Given the description of an element on the screen output the (x, y) to click on. 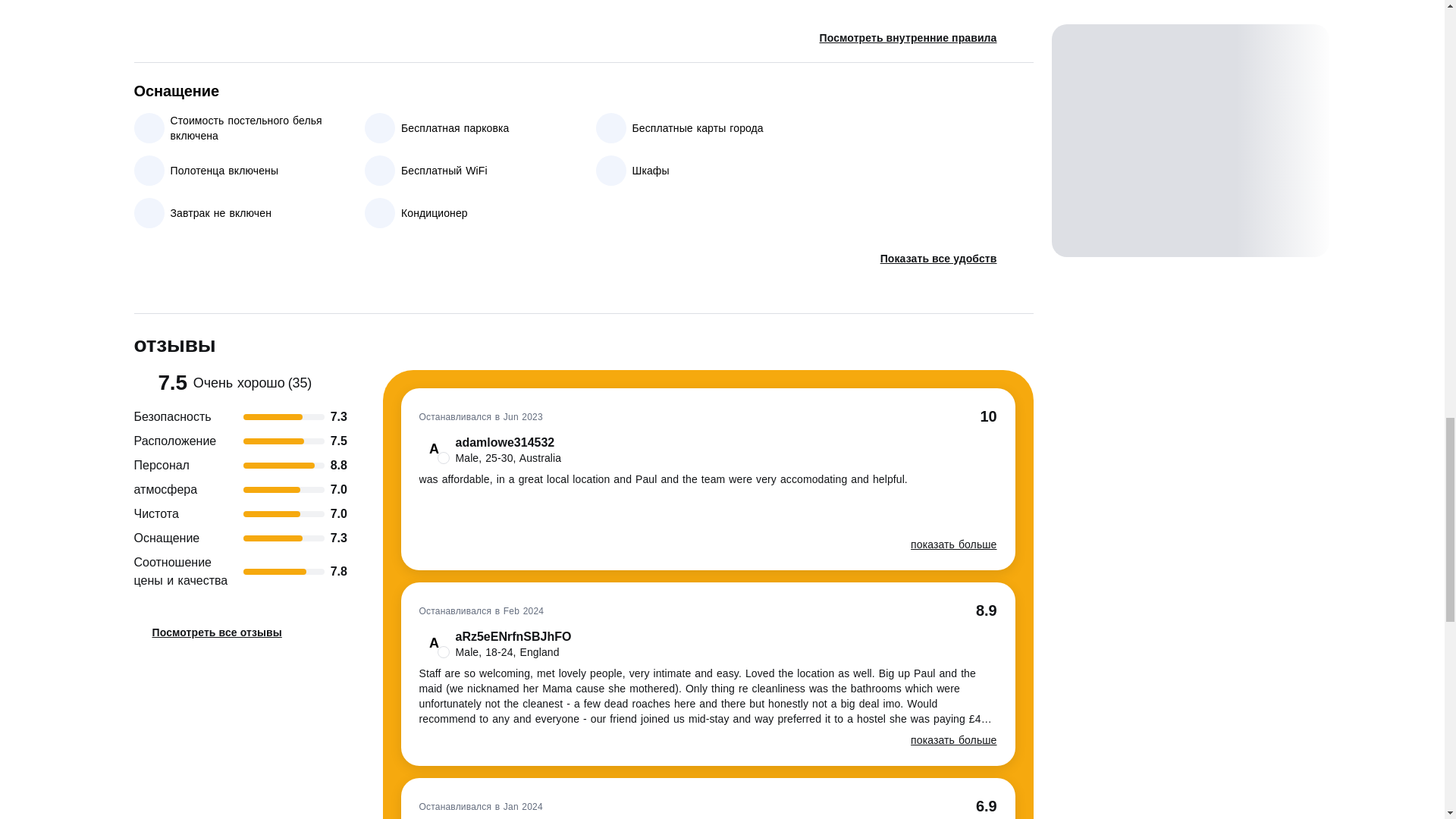
aRz5eENrfnSBJhFO (494, 644)
adamlowe314532 (489, 450)
